Given the description of an element on the screen output the (x, y) to click on. 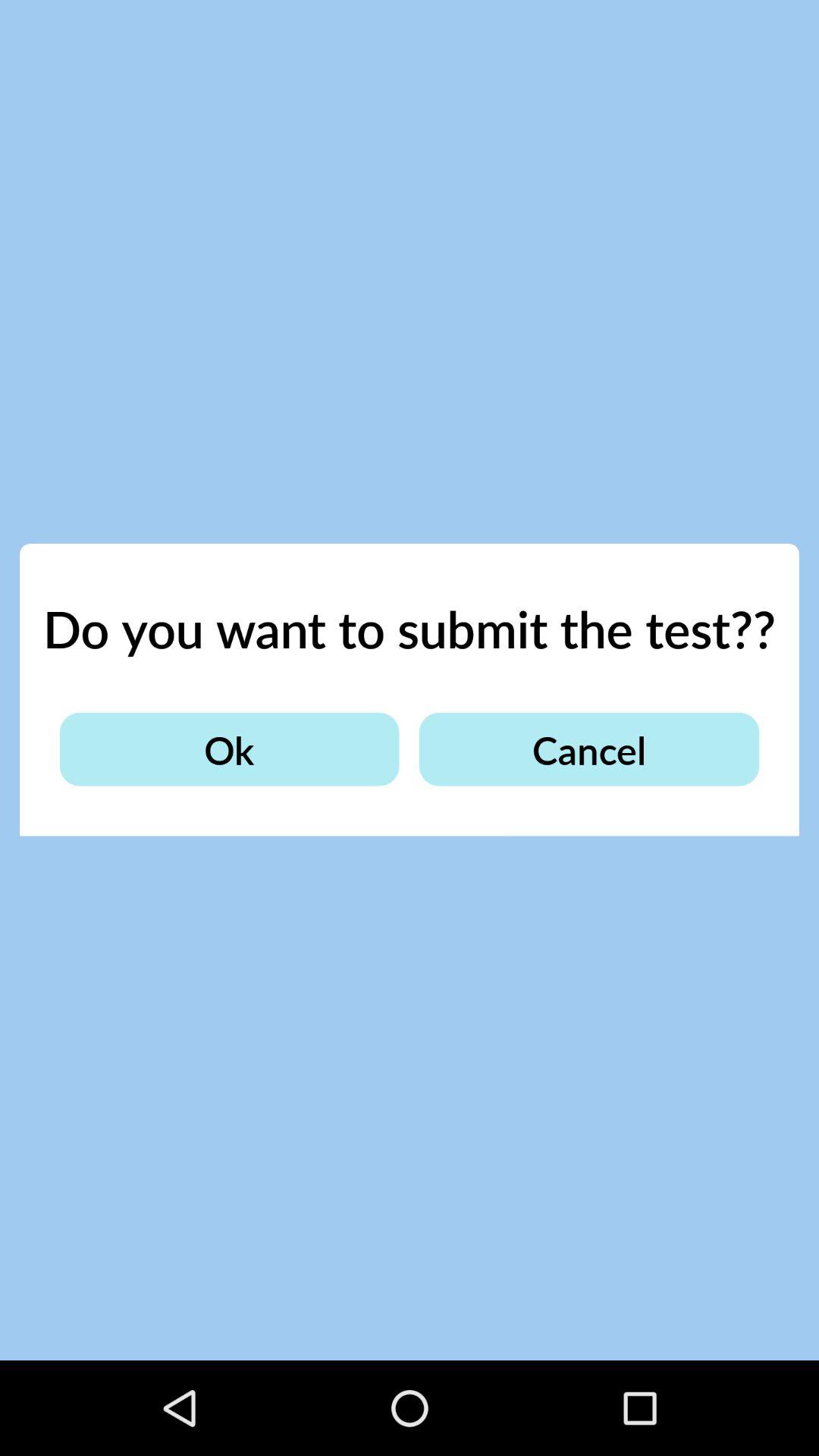
tap cancel item (589, 749)
